Given the description of an element on the screen output the (x, y) to click on. 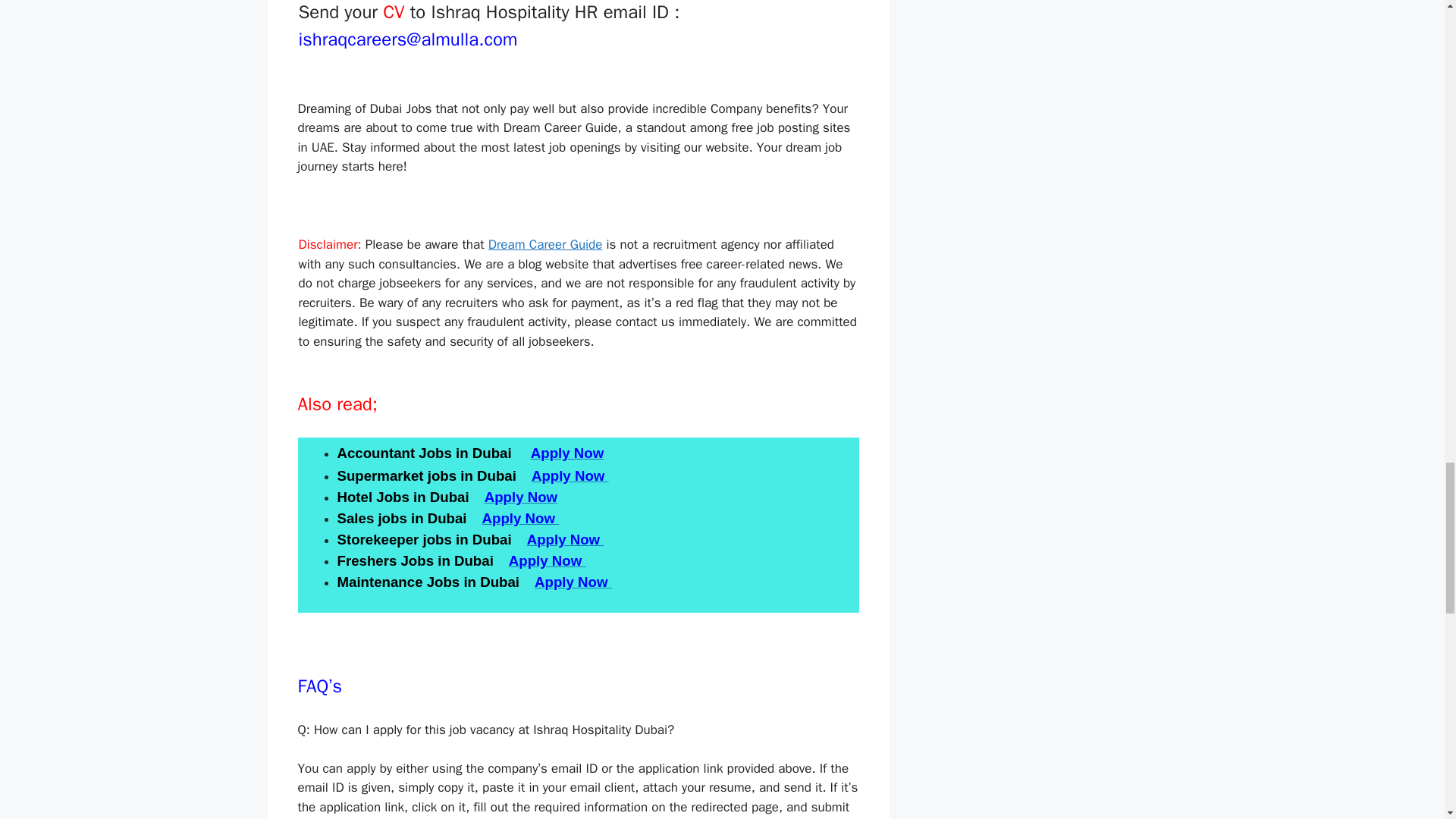
Apply Now  (547, 560)
Apply Now (567, 453)
Apply Now  (565, 539)
Apply Now  (520, 518)
Apply Now  (572, 581)
Apply Now (520, 496)
Dream Career Guide (544, 244)
Apply Now (569, 475)
